Given the description of an element on the screen output the (x, y) to click on. 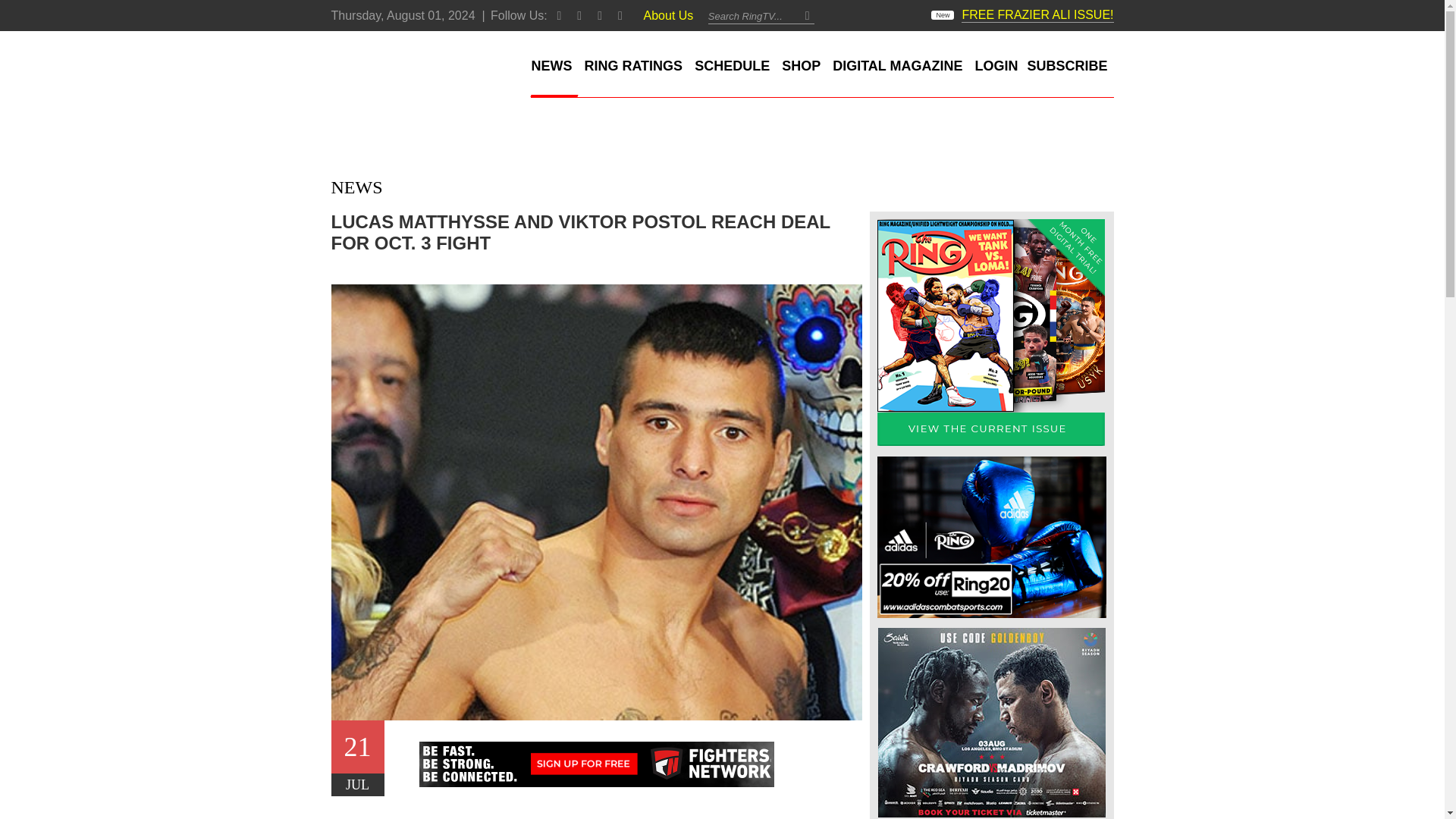
Ring TV (390, 72)
About Us (668, 15)
SUBSCRIBE (1066, 66)
RING RATINGS (633, 66)
DIGITAL MAGAZINE (897, 66)
SCHEDULE (732, 66)
Ring TV (390, 72)
FREE FRAZIER ALI ISSUE! (1036, 14)
